Given the description of an element on the screen output the (x, y) to click on. 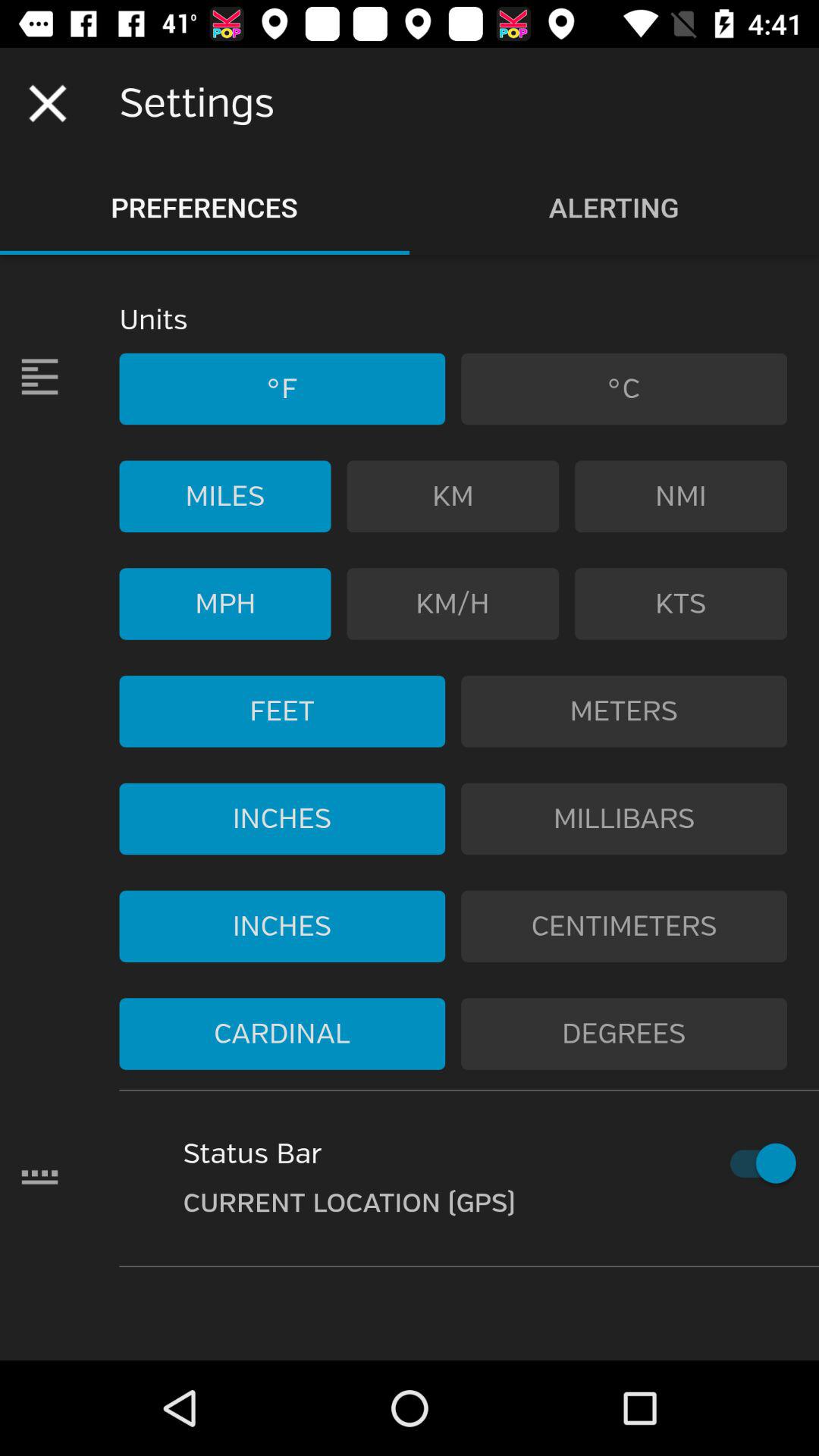
launch icon to the left of meters item (282, 711)
